Given the description of an element on the screen output the (x, y) to click on. 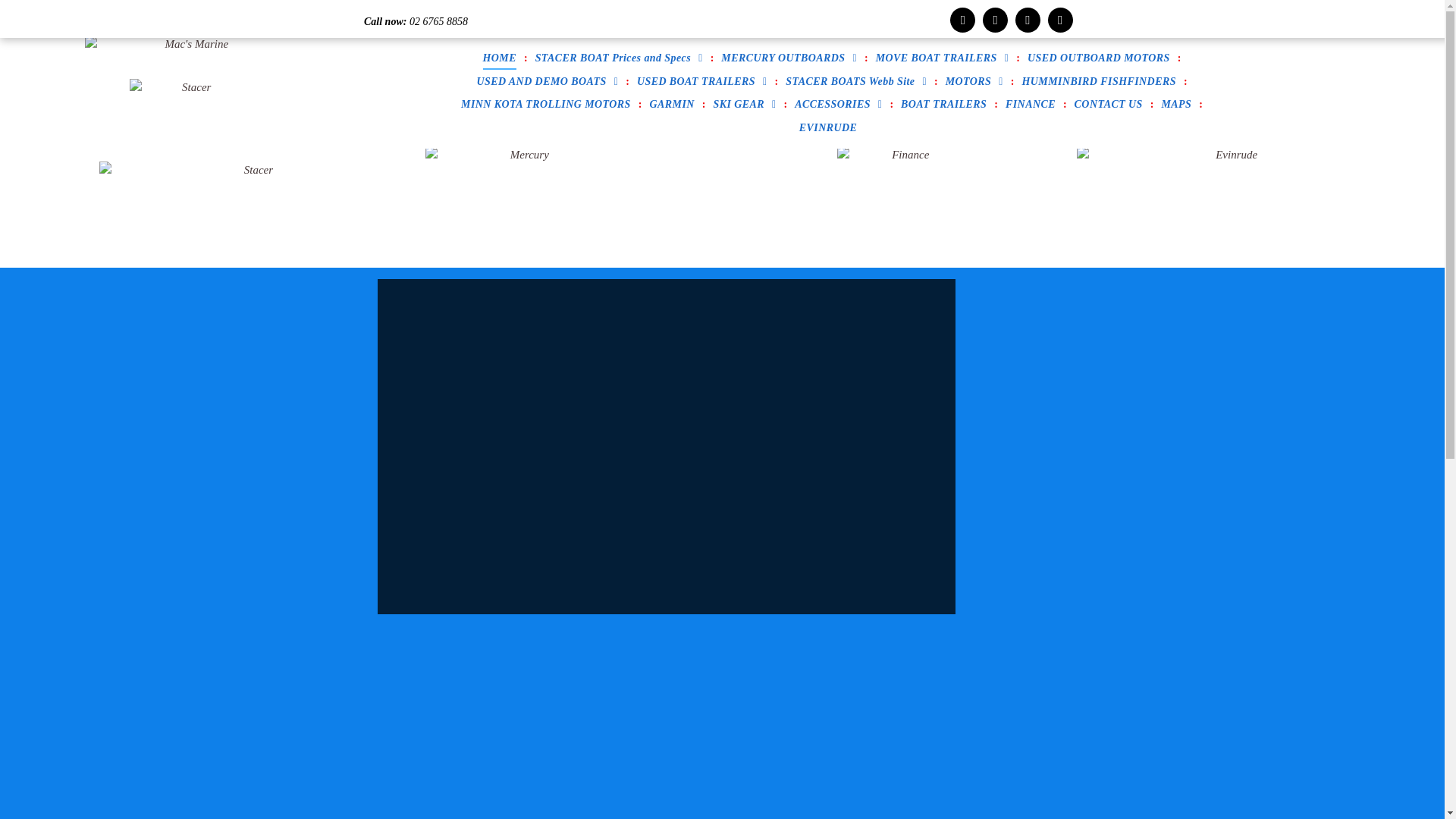
MERCURY OUTBOARDS Element type: text (788, 58)
MOVE BOAT TRAILERS Element type: text (942, 58)
EVINRUDE Element type: text (828, 127)
HOME Element type: text (499, 58)
MOTORS Element type: text (974, 81)
USED BOAT TRAILERS Element type: text (702, 81)
USED AND DEMO BOATS Element type: text (546, 81)
STACER BOAT Prices and Specs Element type: text (618, 58)
GARMIN Element type: text (671, 104)
HUMMINBIRD FISHFINDERS Element type: text (1098, 81)
MINN KOTA TROLLING MOTORS Element type: text (545, 104)
USED OUTBOARD MOTORS Element type: text (1098, 58)
FINANCE Element type: text (1030, 104)
CONTACT US Element type: text (1108, 104)
BOAT TRAILERS Element type: text (943, 104)
ACCESSORIES Element type: text (838, 104)
STACER BOATS Webb Site Element type: text (856, 81)
MAPS Element type: text (1175, 104)
SKI GEAR Element type: text (744, 104)
